Given the description of an element on the screen output the (x, y) to click on. 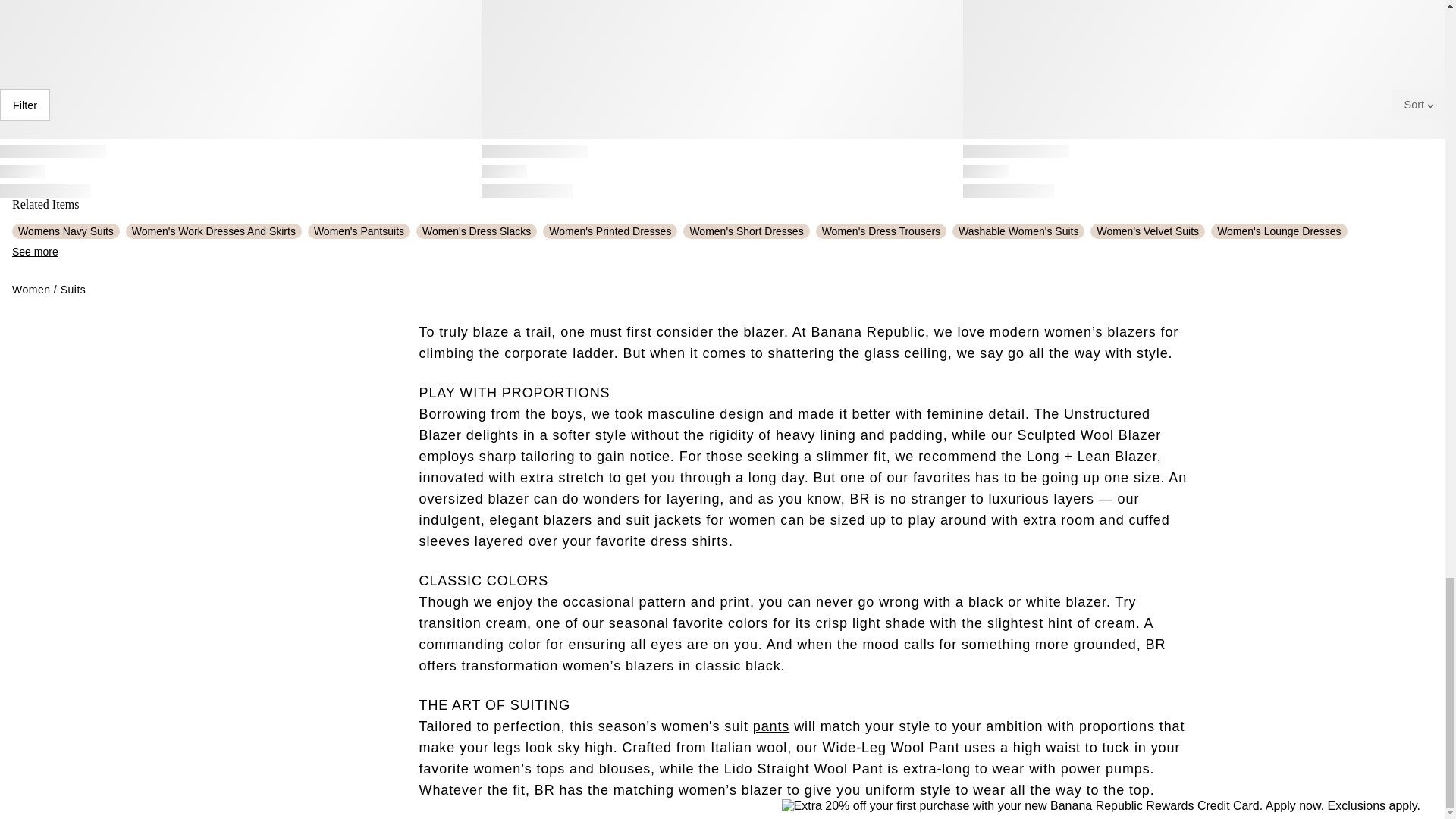
Women'S Work Dresses And Skirts (213, 231)
Women'S Dress Slacks (476, 231)
Women'S Short Dresses (745, 231)
Women'S Printed Dresses (610, 231)
Women'S Pantsuits (358, 231)
Womens Navy Suits (65, 231)
